Given the description of an element on the screen output the (x, y) to click on. 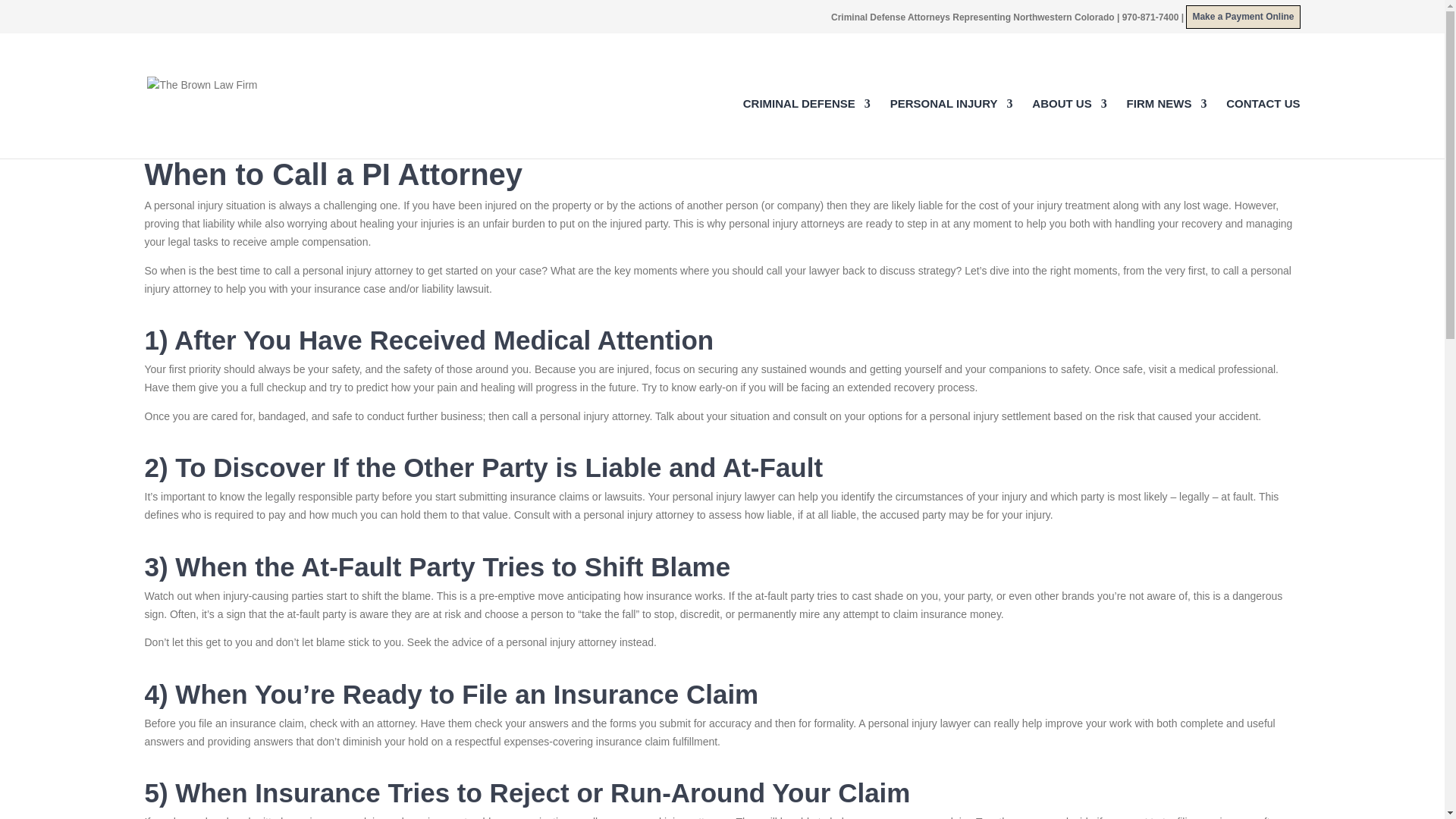
FIRM NEWS (1166, 128)
CRIMINAL DEFENSE (806, 128)
Make a Payment Online (1243, 16)
Every Client Takes a Different Approach (722, 133)
ABOUT US (1069, 128)
CONTACT US (1262, 128)
PERSONAL INJURY (951, 128)
